Given the description of an element on the screen output the (x, y) to click on. 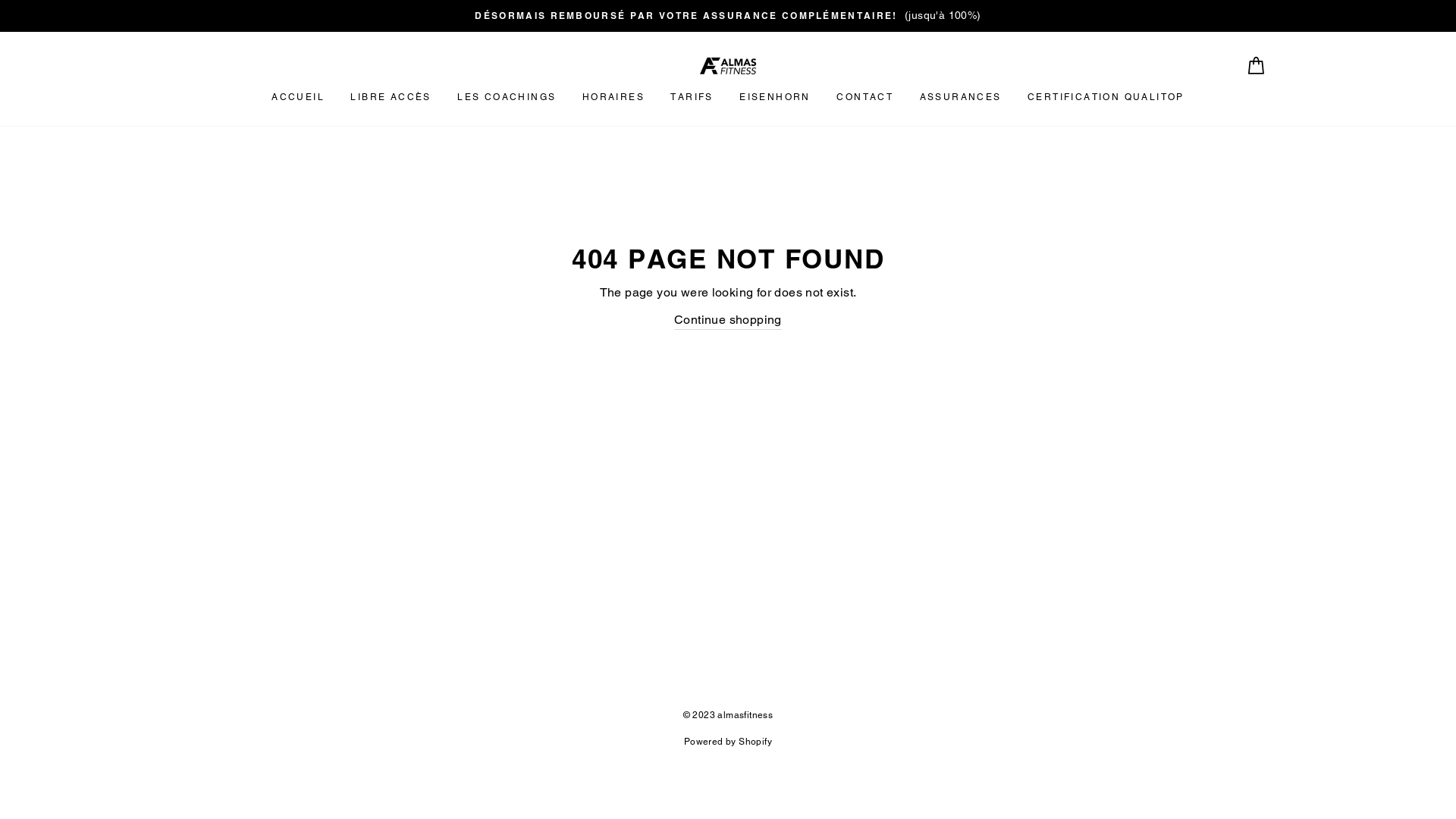
ASSURANCES Element type: text (960, 97)
Continue shopping Element type: text (727, 320)
CERTIFICATION QUALITOP Element type: text (1105, 97)
ACCUEIL Element type: text (297, 97)
LES COACHINGS Element type: text (506, 97)
TARIFS Element type: text (691, 97)
Skip to content Element type: text (0, 0)
CART Element type: text (1255, 65)
EISENHORN Element type: text (775, 97)
CONTACT Element type: text (864, 97)
HORAIRES Element type: text (613, 97)
Powered by Shopify Element type: text (727, 741)
